Given the description of an element on the screen output the (x, y) to click on. 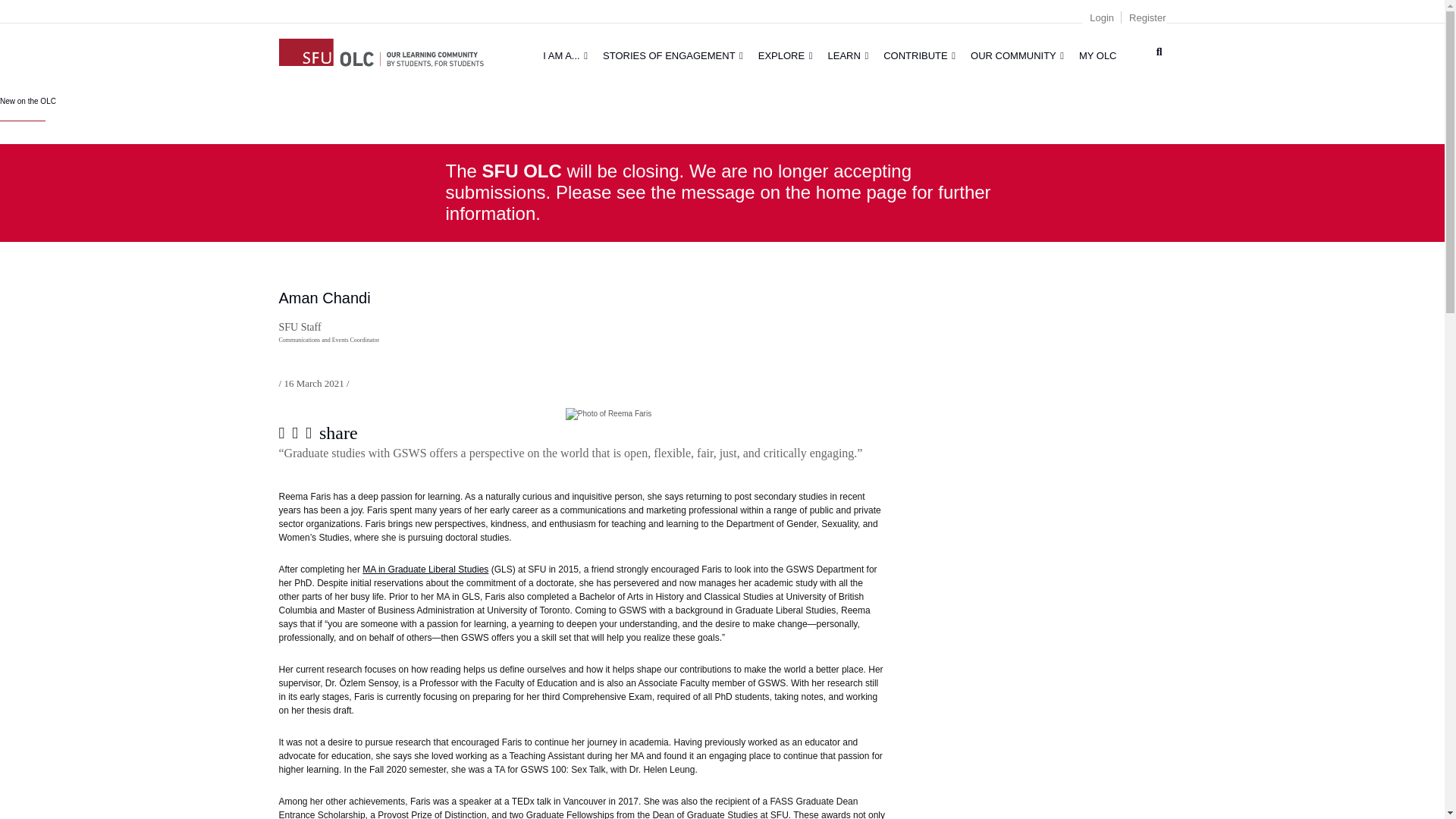
STORIES OF ENGAGEMENT (673, 55)
Home (381, 50)
EXPLORE (786, 55)
CONTRIBUTE (919, 55)
Register (1147, 17)
I AM A... (565, 55)
OUR COMMUNITY (1016, 55)
Login (1101, 17)
LEARN (848, 55)
